Given the description of an element on the screen output the (x, y) to click on. 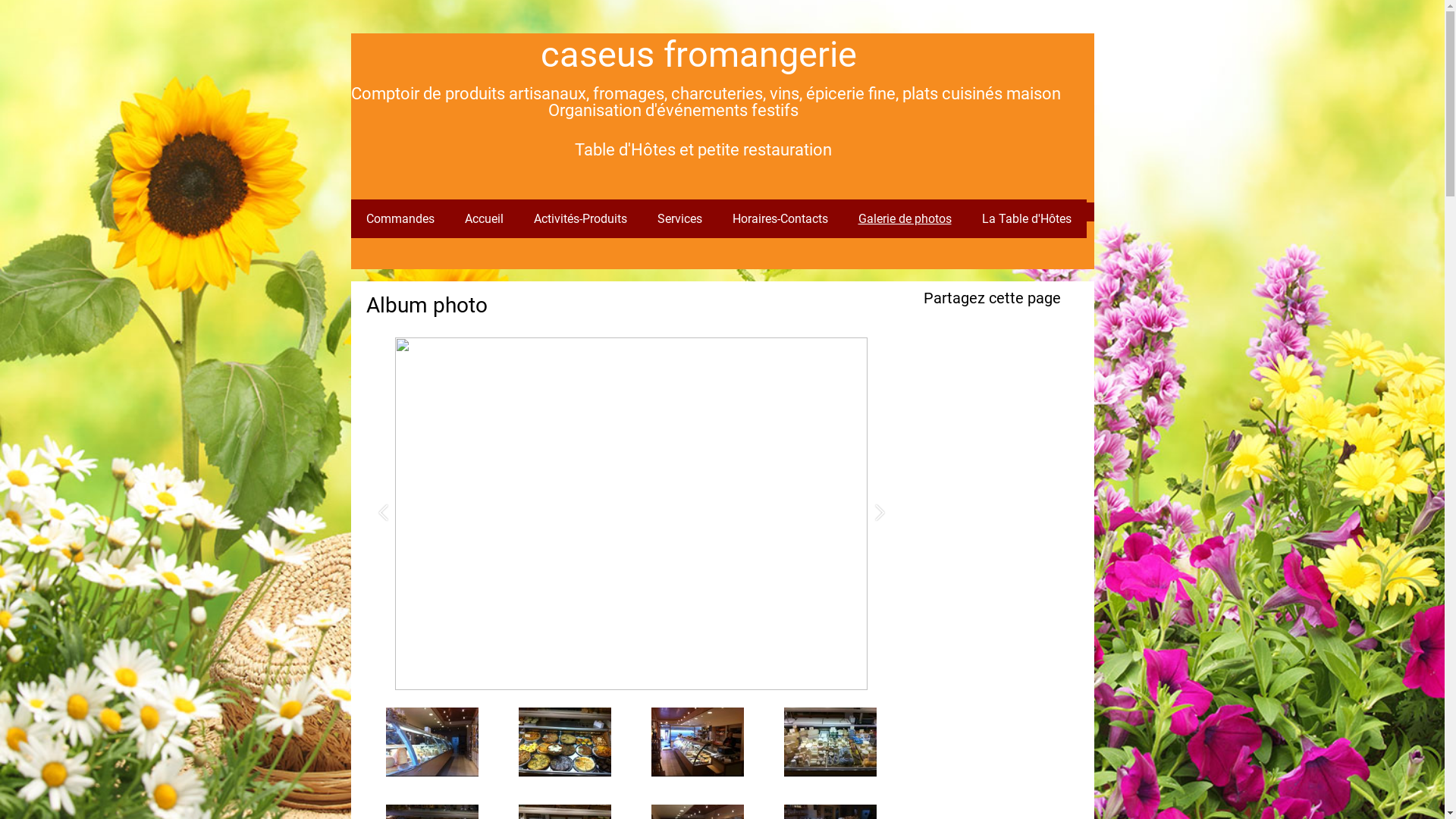
Horaires-Contacts Element type: text (780, 217)
Services Element type: text (678, 217)
Commandes Element type: text (399, 217)
Galerie de photos Element type: text (904, 217)
caseus fromangerie Element type: text (697, 53)
Accueil Element type: text (482, 217)
